Given the description of an element on the screen output the (x, y) to click on. 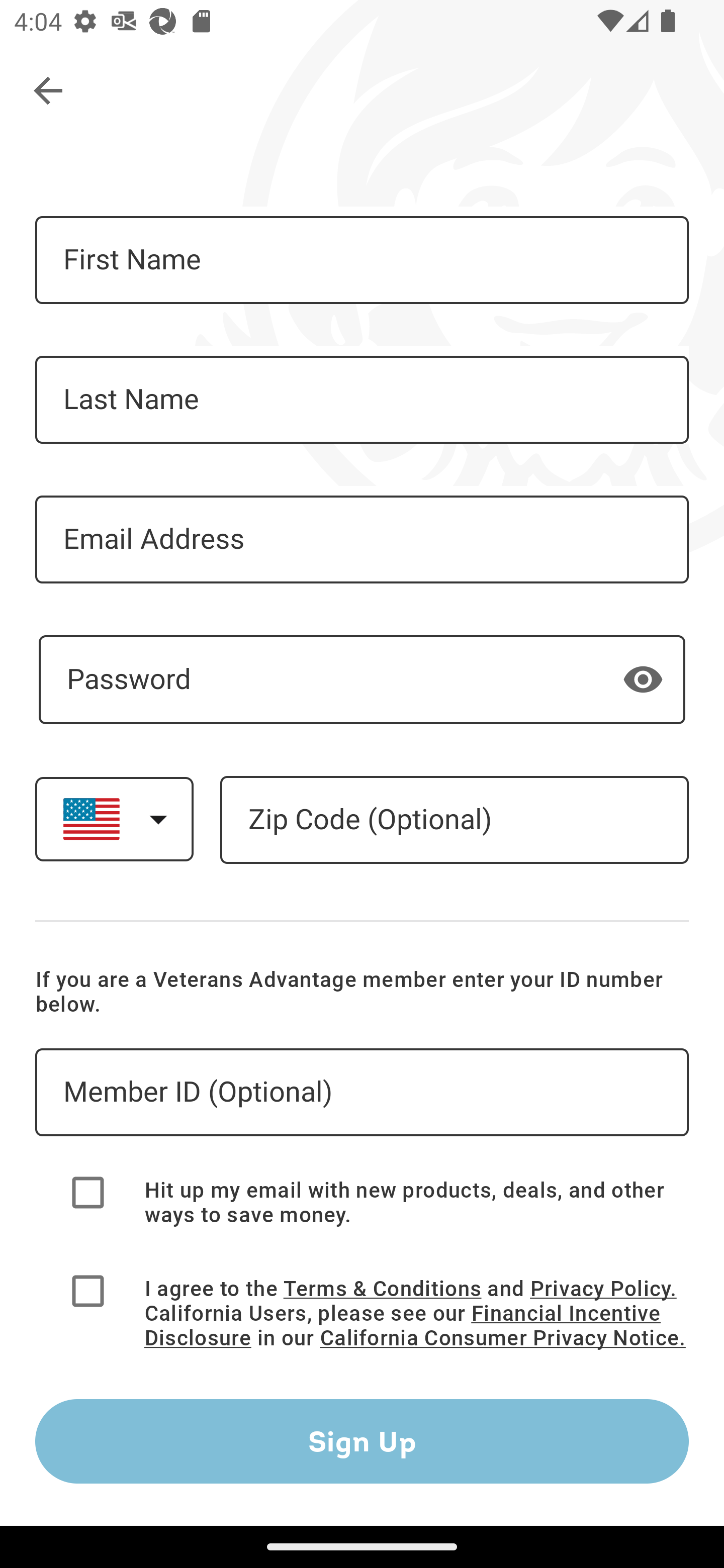
Navigate up (49, 91)
First Name - Required (361, 260)
Last Name - Required (361, 399)
Email Address - Required (361, 539)
- Required (361, 679)
Show password (642, 678)
Zip Code – Optional (454, 819)
Select a country. United States selected. (114, 818)
Veterans Advantage ID – Optional (361, 1092)
Sign Up (361, 1440)
